Given the description of an element on the screen output the (x, y) to click on. 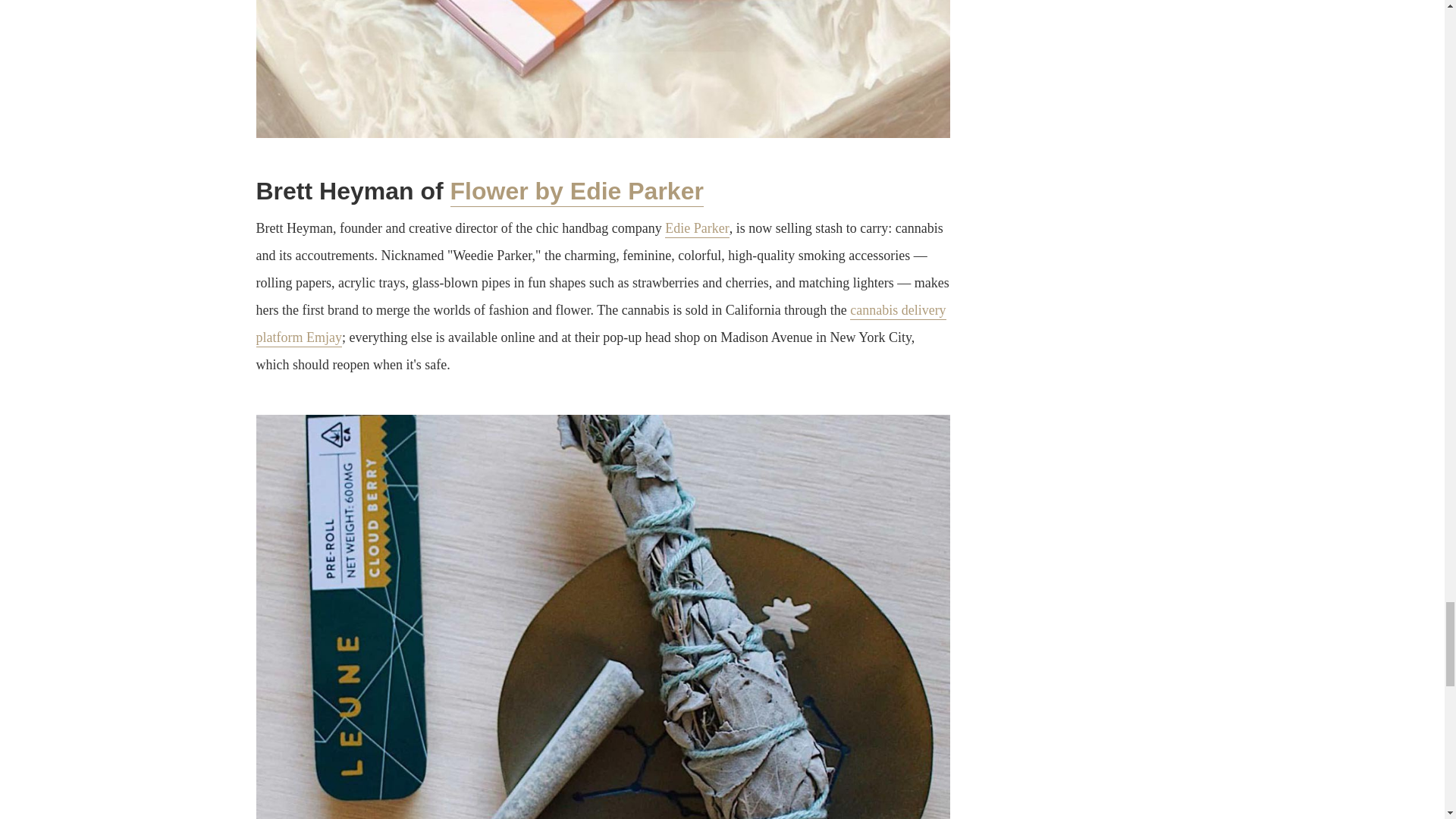
cannabis delivery platform Emjay (601, 324)
Edie Parker (697, 229)
Flower by Edie Parker (576, 192)
